Given the description of an element on the screen output the (x, y) to click on. 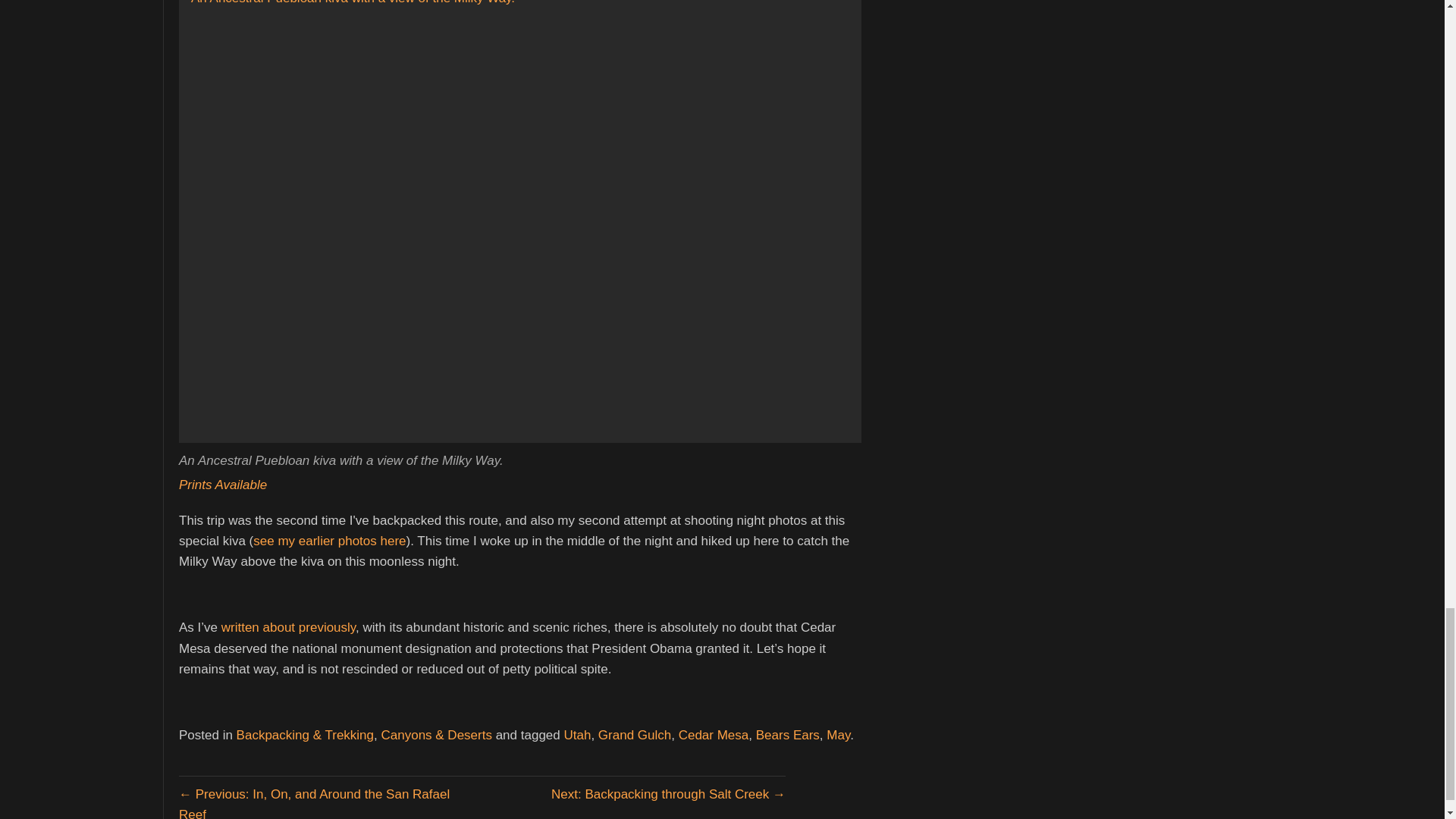
Grand Gulch (634, 735)
Utah (577, 735)
Bears Ears (787, 735)
written about previously (288, 626)
May (838, 735)
Prints Available (222, 484)
Cedar Mesa (713, 735)
see my earlier photos here (329, 540)
